Given the description of an element on the screen output the (x, y) to click on. 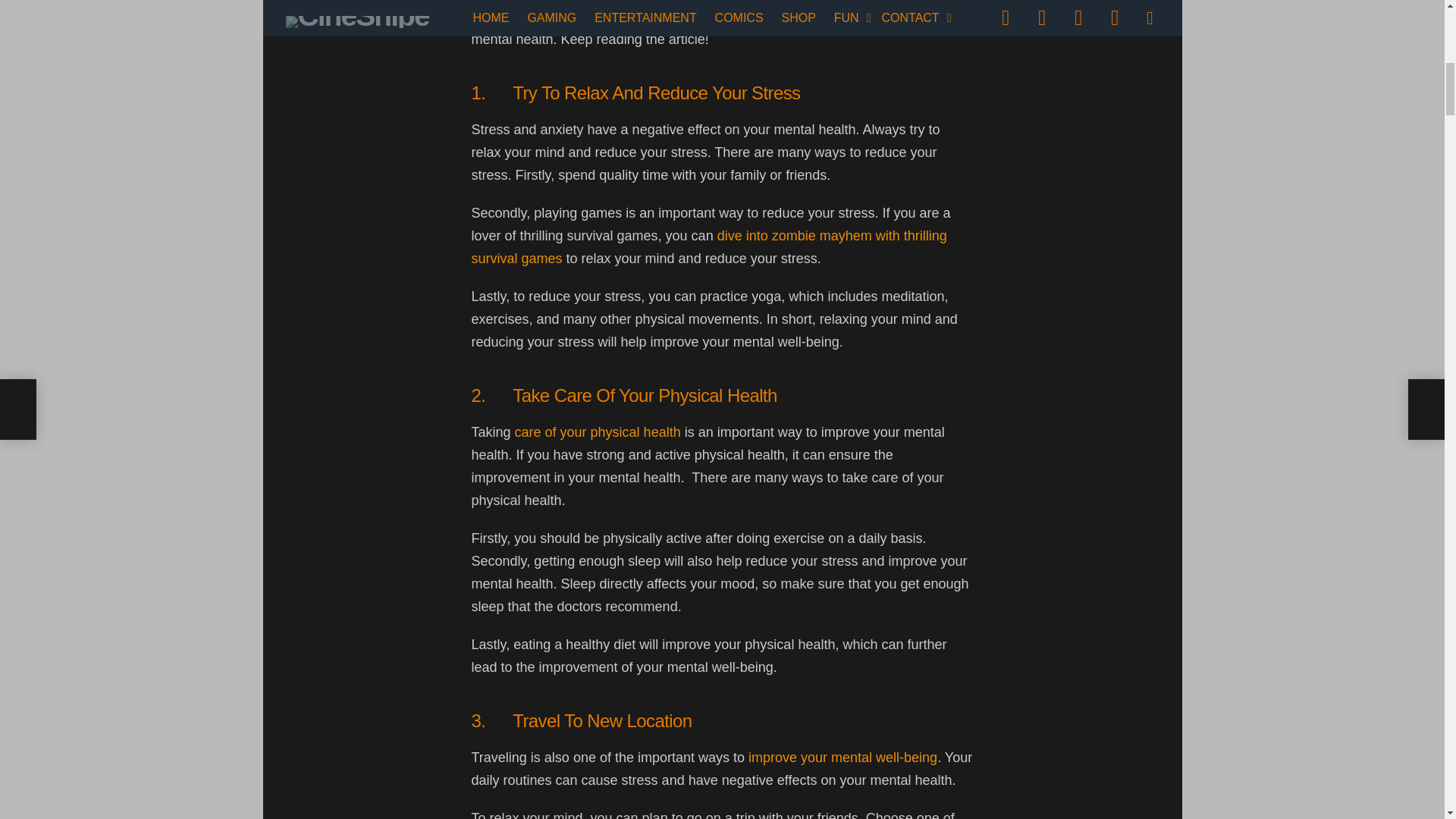
dive into zombie mayhem with thrilling survival games (709, 247)
